Given the description of an element on the screen output the (x, y) to click on. 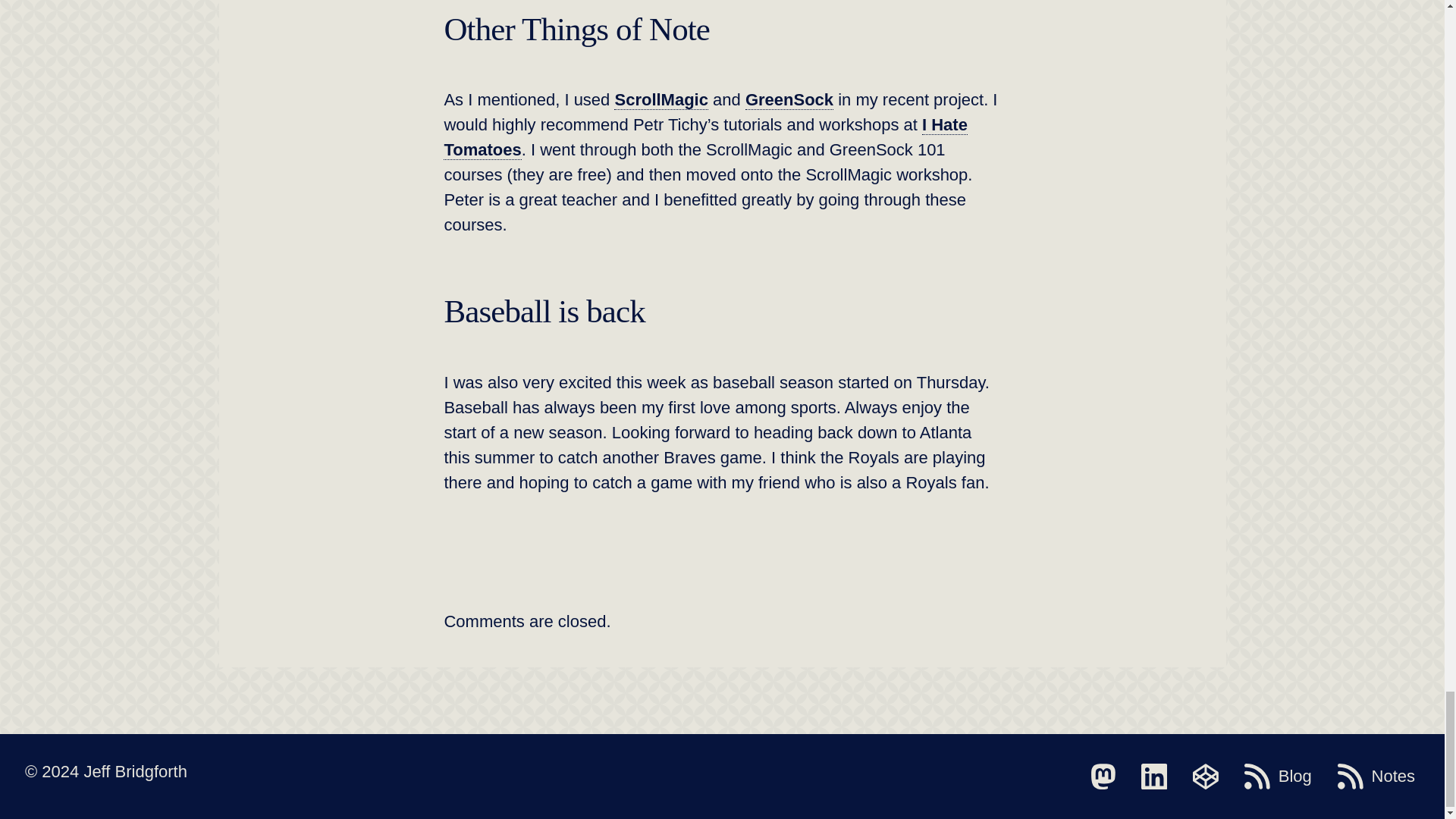
Mastodon (1102, 776)
LinkedIn (1154, 776)
Blog (1278, 776)
Notes (1376, 776)
I Hate Tomatoes (705, 137)
ScrollMagic (660, 99)
GreenSock (788, 99)
Codepen (1205, 776)
